Given the description of an element on the screen output the (x, y) to click on. 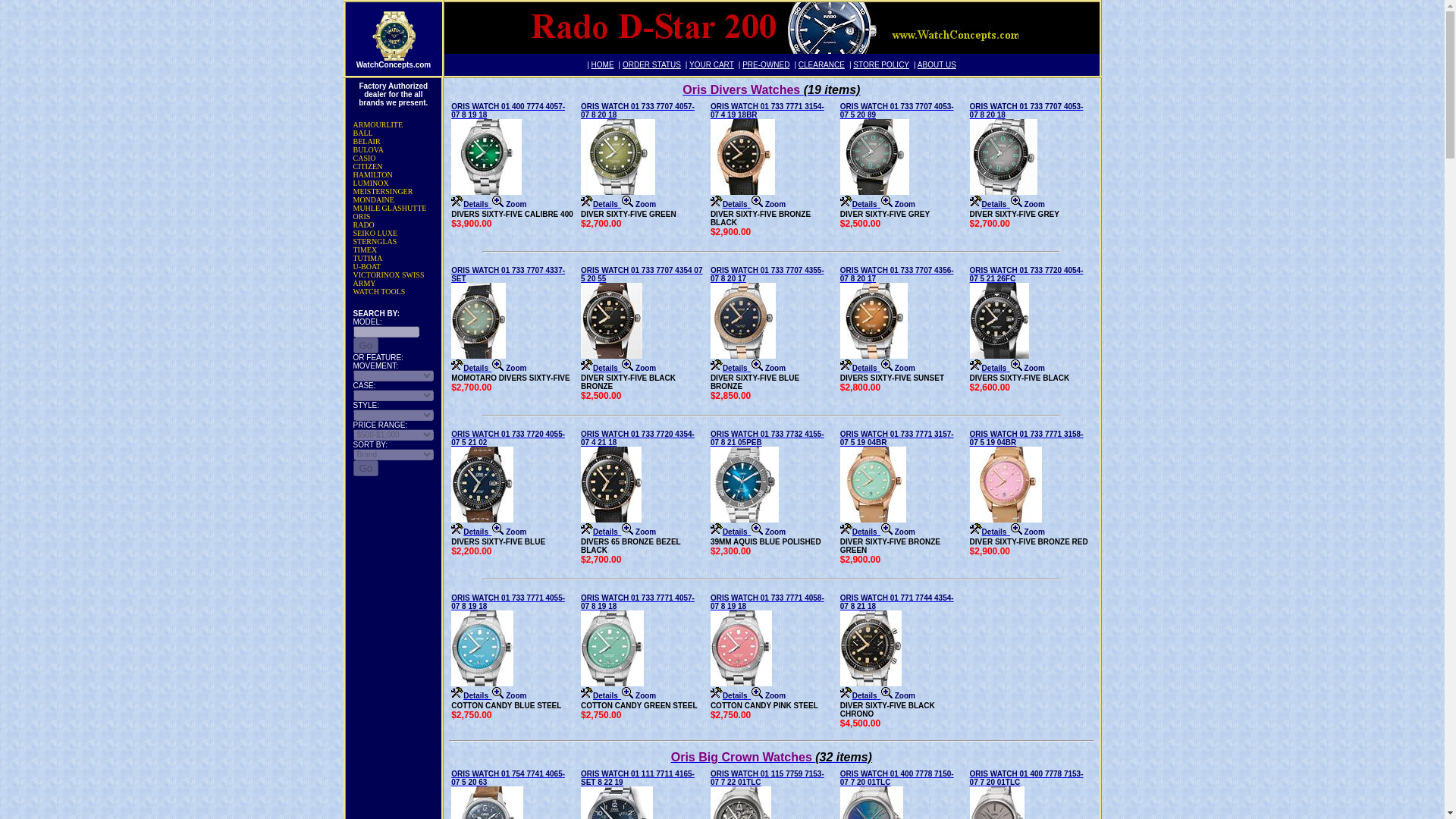
Zoom (508, 202)
ORIS (362, 216)
MEISTERSINGER (383, 191)
BALL (507, 153)
HOME (362, 132)
Zoom (602, 64)
Zoom (638, 202)
SEIKO LUXE (897, 202)
RADO (375, 233)
ORDER STATUS (363, 224)
CASIO (652, 64)
Go (364, 157)
LUMINOX (365, 344)
HAMILTON (370, 183)
